Given the description of an element on the screen output the (x, y) to click on. 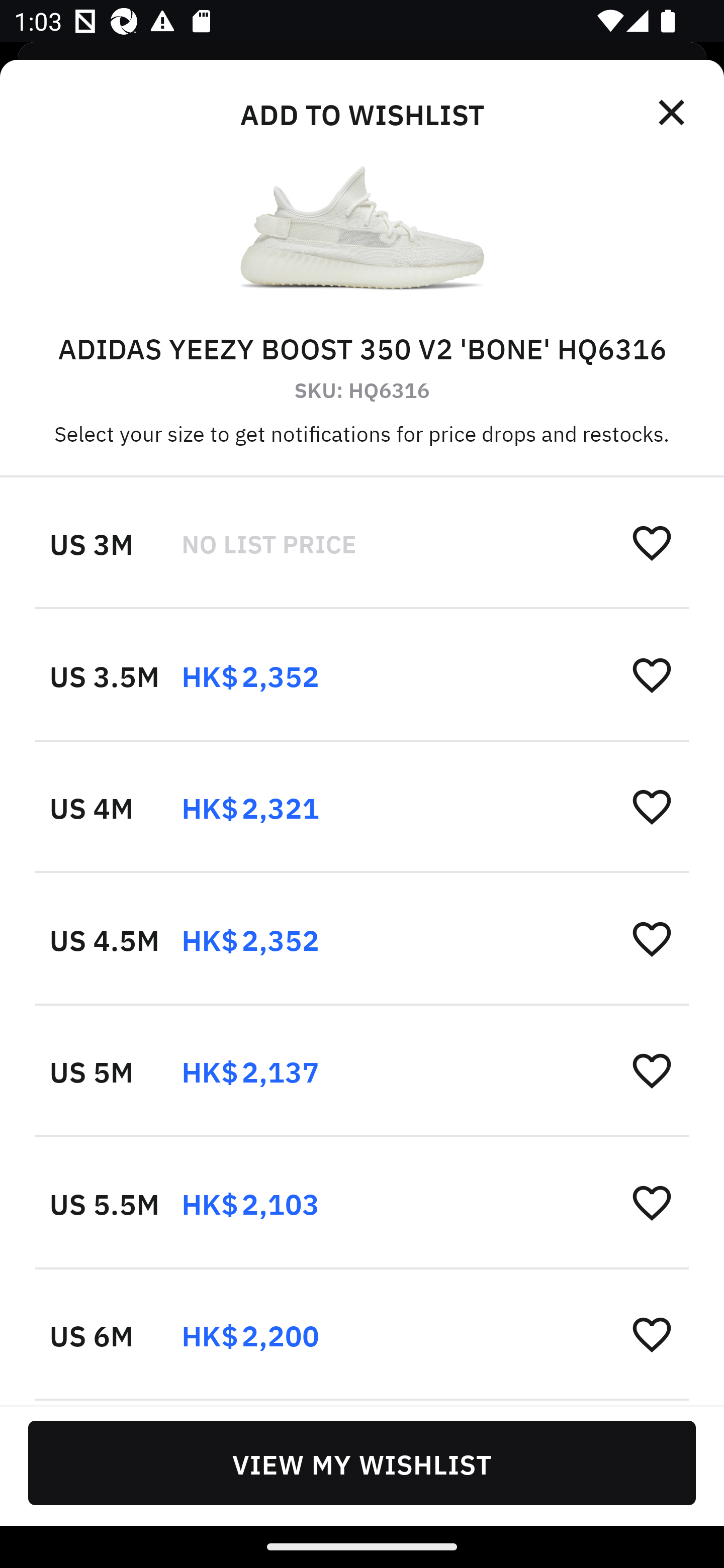
 (672, 112)
󰋕 (651, 542)
󰋕 (651, 674)
󰋕 (651, 806)
󰋕 (651, 938)
󰋕 (651, 1069)
󰋕 (651, 1201)
󰋕 (651, 1333)
VIEW MY WISHLIST (361, 1462)
